Given the description of an element on the screen output the (x, y) to click on. 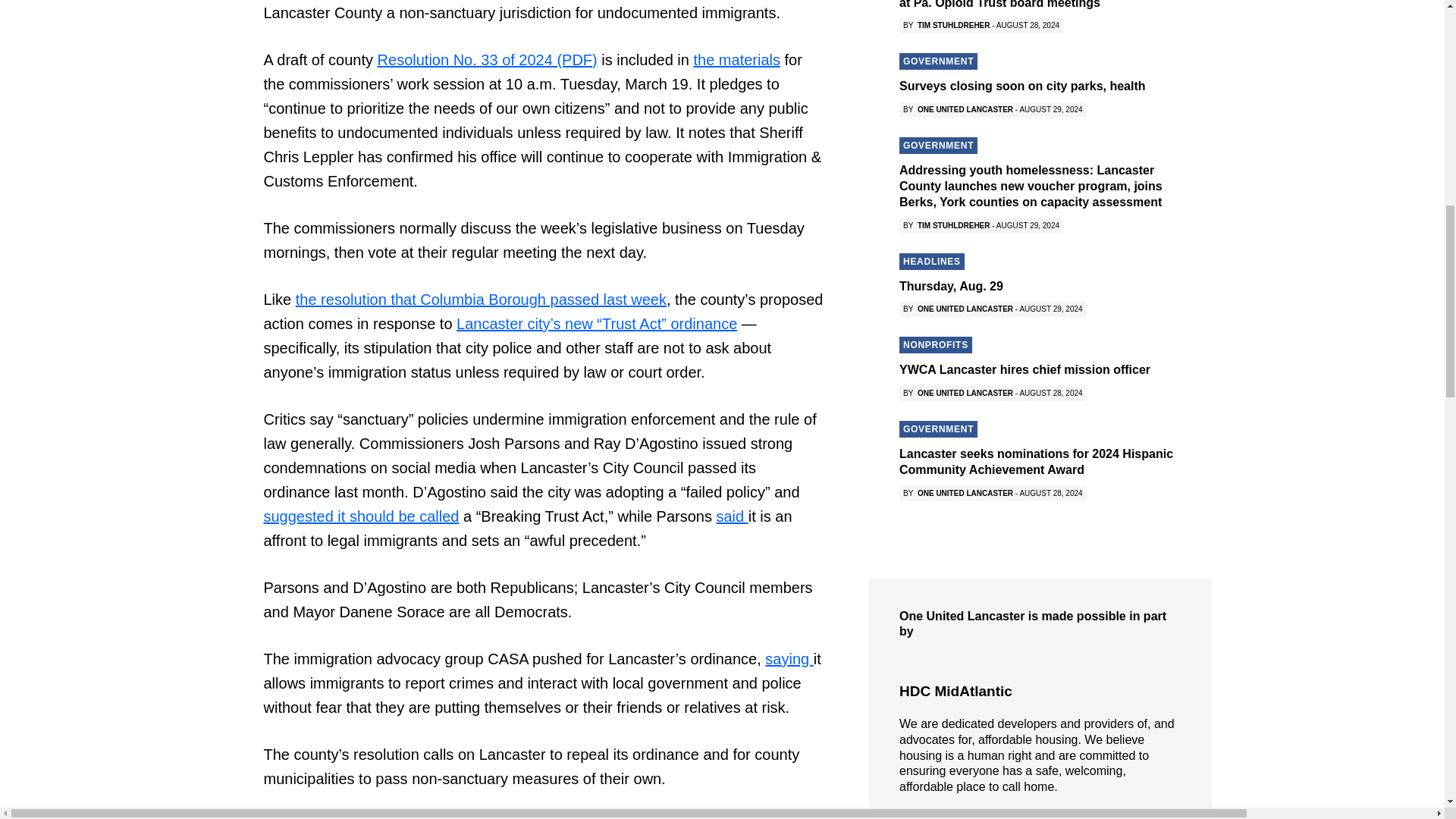
suggested it should be called (361, 515)
the resolution that Columbia Borough passed last week (480, 299)
saying (788, 658)
said (732, 515)
the materials (736, 59)
One United Lancaster (979, 379)
